Given the description of an element on the screen output the (x, y) to click on. 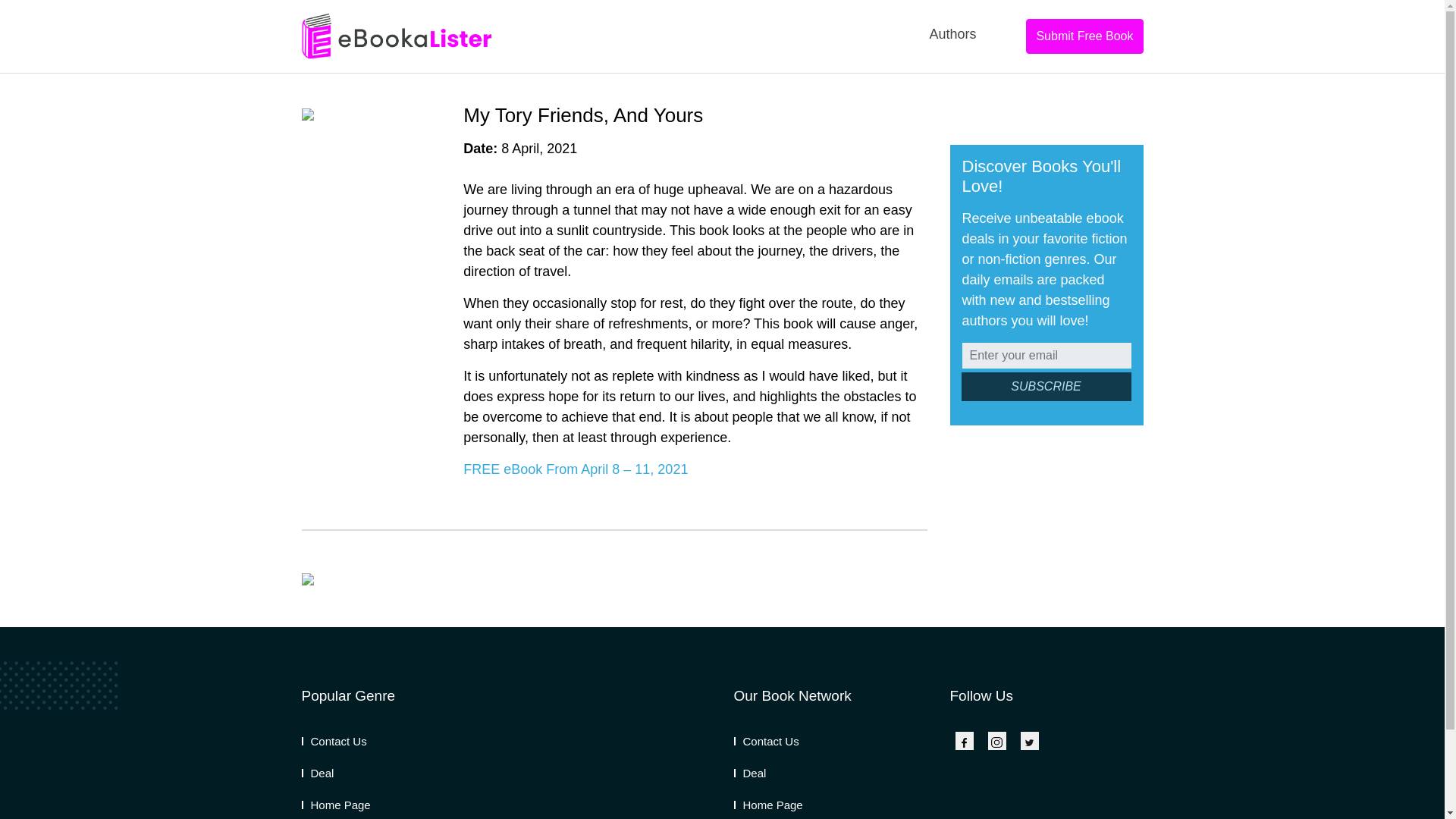
Deal (750, 772)
Deal (317, 772)
Submit Free Book (1084, 36)
Home Page (336, 804)
Authors (952, 34)
Subscribe (1045, 386)
Contact Us (766, 740)
Contact Us (333, 740)
My Tory Friends, And Yours (583, 115)
Home Page (768, 804)
Subscribe (1045, 386)
